Given the description of an element on the screen output the (x, y) to click on. 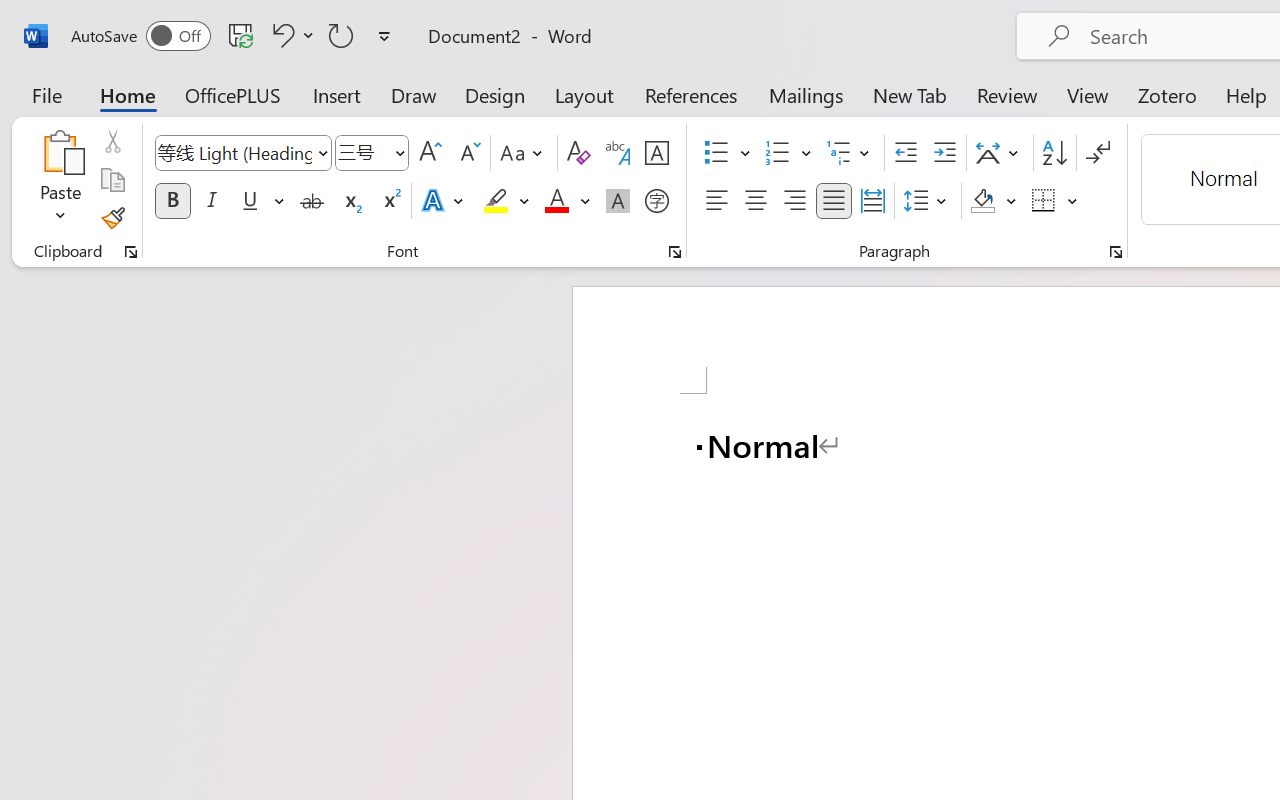
Multilevel List (850, 153)
Paste (60, 179)
Save (241, 35)
Align Left (716, 201)
Text Highlight Color (506, 201)
References (690, 94)
Quick Access Toolbar (233, 36)
Paragraph... (1115, 252)
Bold (172, 201)
Repeat Doc Close (341, 35)
Center (756, 201)
Strikethrough (312, 201)
Numbering (778, 153)
Shading (993, 201)
